Given the description of an element on the screen output the (x, y) to click on. 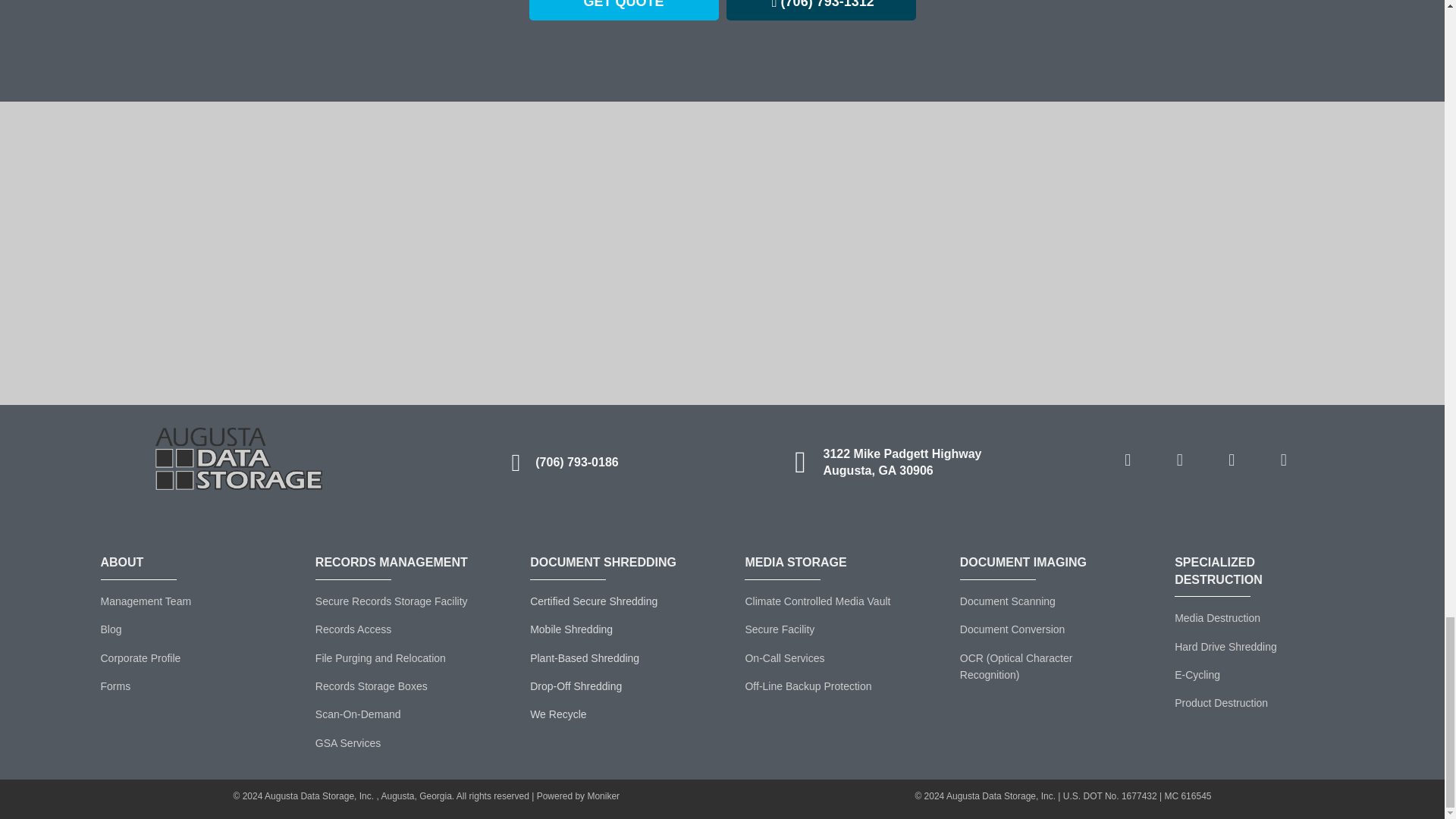
LinkedIn (1179, 459)
Google Plus (1230, 459)
Facebook (1127, 459)
YouTube (1283, 459)
Header Augusta Data (238, 458)
